Given the description of an element on the screen output the (x, y) to click on. 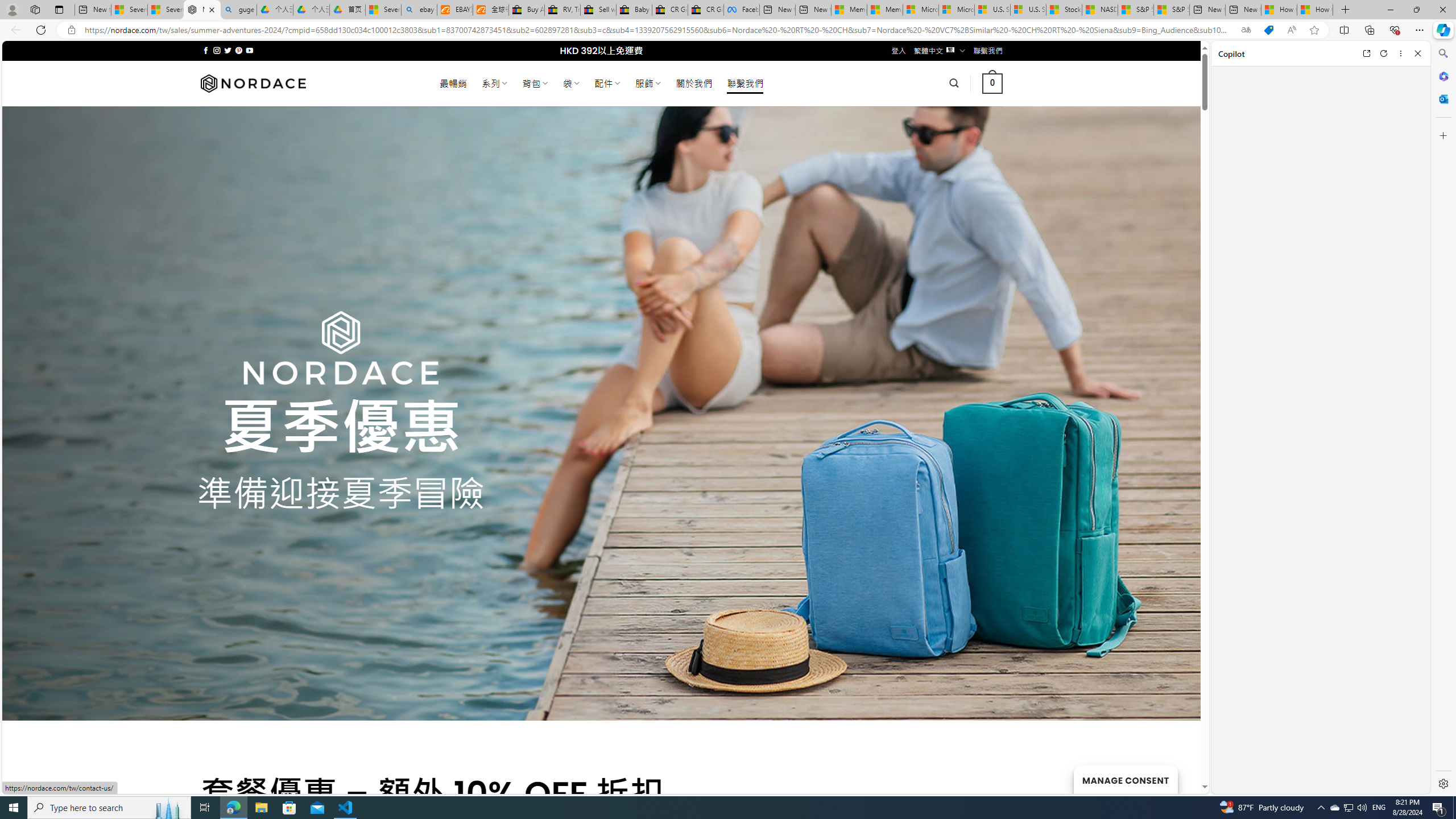
This site has coupons! Shopping in Microsoft Edge (1268, 29)
MANAGE CONSENT (1125, 779)
